Given the description of an element on the screen output the (x, y) to click on. 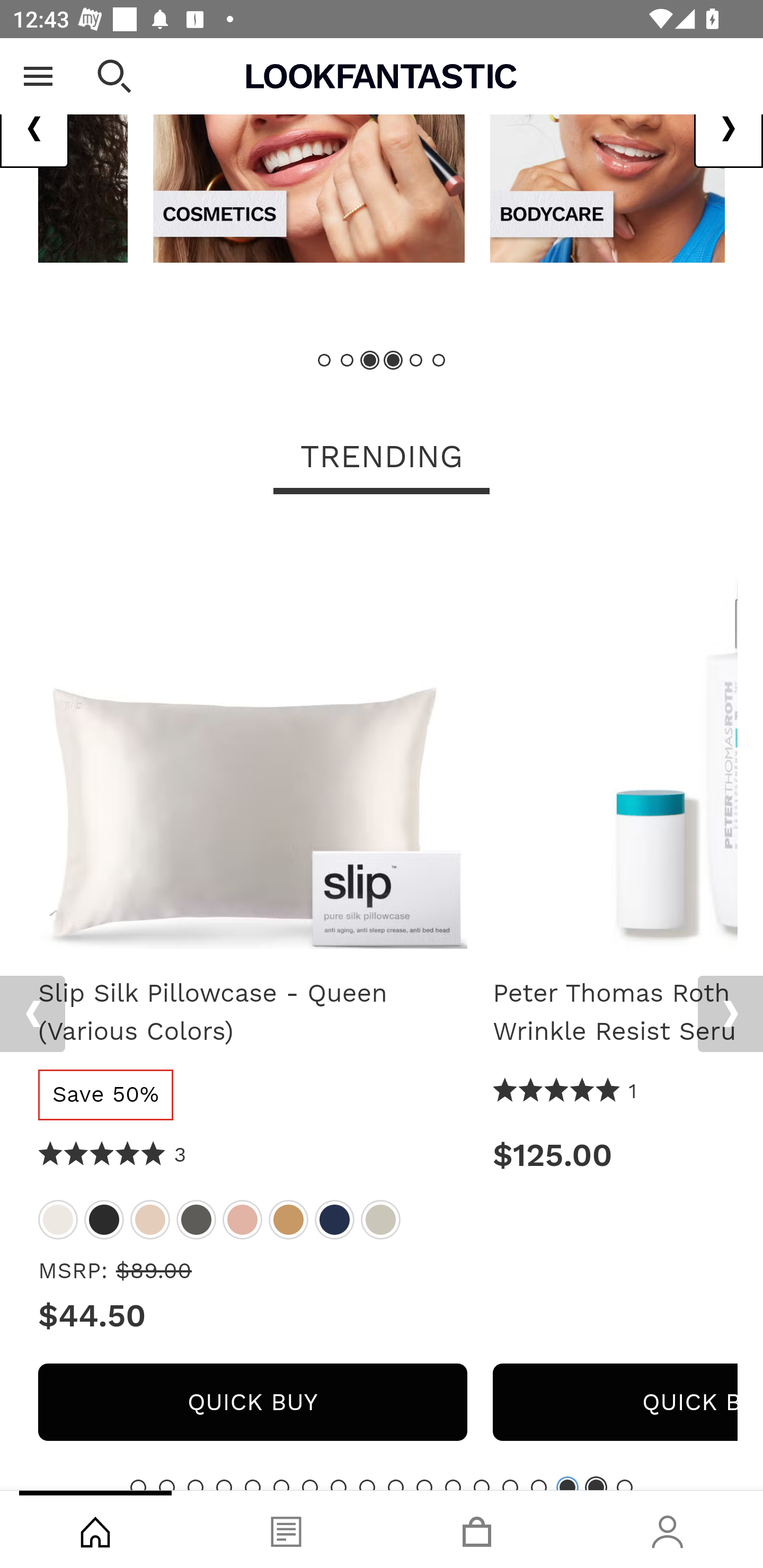
view-all (308, 150)
view-all (606, 150)
Previous (35, 129)
Next (727, 129)
Slide 1 (324, 361)
Slide 2 (347, 361)
Showing Slide 3 (Current Item) (369, 361)
Showing Slide 4 (Current Item) (393, 361)
Slide 5 (415, 361)
Slide 6 (437, 361)
TRENDING (381, 459)
Slip Silk Pillowcase - Queen (Various Colors) (252, 740)
Slip Silk Pillowcase - Queen (Various Colors) (252, 1012)
Previous (32, 1014)
Next (730, 1014)
Save 50%, read more (106, 1095)
5.0 Stars 1 Reviews (564, 1091)
Price: $125.00 (614, 1156)
5.0 Stars 3 Reviews (112, 1155)
Slip Silk Pillowcase - Queen (Various Colors) (57, 1220)
Slip Silk Pillowcase - Queen (Various Colors) (103, 1220)
Slip Silk Pillowcase - Queen (Various Colors) (150, 1220)
Slip Silk Pillowcase - Queen (Various Colors) (195, 1220)
Slip Silk Pillowcase - Queen (Various Colors) (242, 1220)
Slip Silk Pillowcase - Queen (Various Colors) (288, 1220)
Slip Silk Pillowcase - Queen (Various Colors) (334, 1220)
Slip Silk Pillowcase - Queen (Various Colors) (380, 1220)
Slide 1 (138, 1485)
Slide 2 (166, 1485)
Slide 3 (195, 1485)
Slide 4 (223, 1485)
Slide 5 (252, 1485)
Slide 6 (281, 1485)
Slide 7 (310, 1485)
Slide 8 (338, 1485)
Slide 9 (367, 1485)
Slide 10 (395, 1485)
Slide 11 (424, 1485)
Slide 12 (452, 1485)
Slide 13 (481, 1485)
Slide 14 (510, 1485)
Slide 15 (539, 1485)
Showing Slide 16 (Current Item) (567, 1485)
Showing Slide 17 (Current Item) (596, 1485)
Slide 18 (624, 1485)
Shop, tab, 1 of 4 (95, 1529)
Blog, tab, 2 of 4 (285, 1529)
Basket, tab, 3 of 4 (476, 1529)
Account, tab, 4 of 4 (667, 1529)
